Given the description of an element on the screen output the (x, y) to click on. 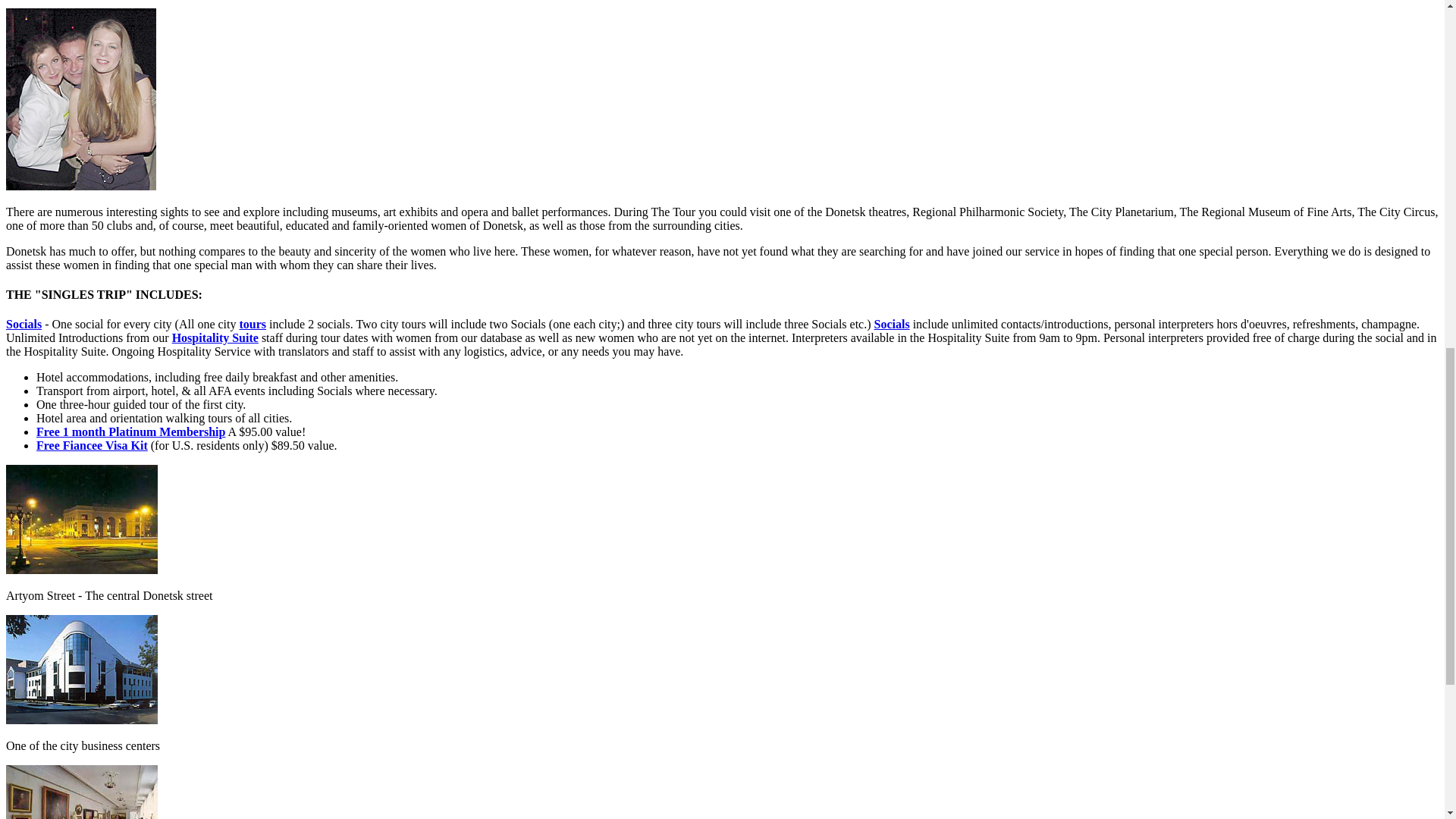
Hospitality Suite (215, 337)
Socials (23, 323)
Socials (892, 323)
tours (252, 323)
Free 1 month Platinum Membership (130, 431)
Free Fiancee Visa Kit (92, 445)
